Given the description of an element on the screen output the (x, y) to click on. 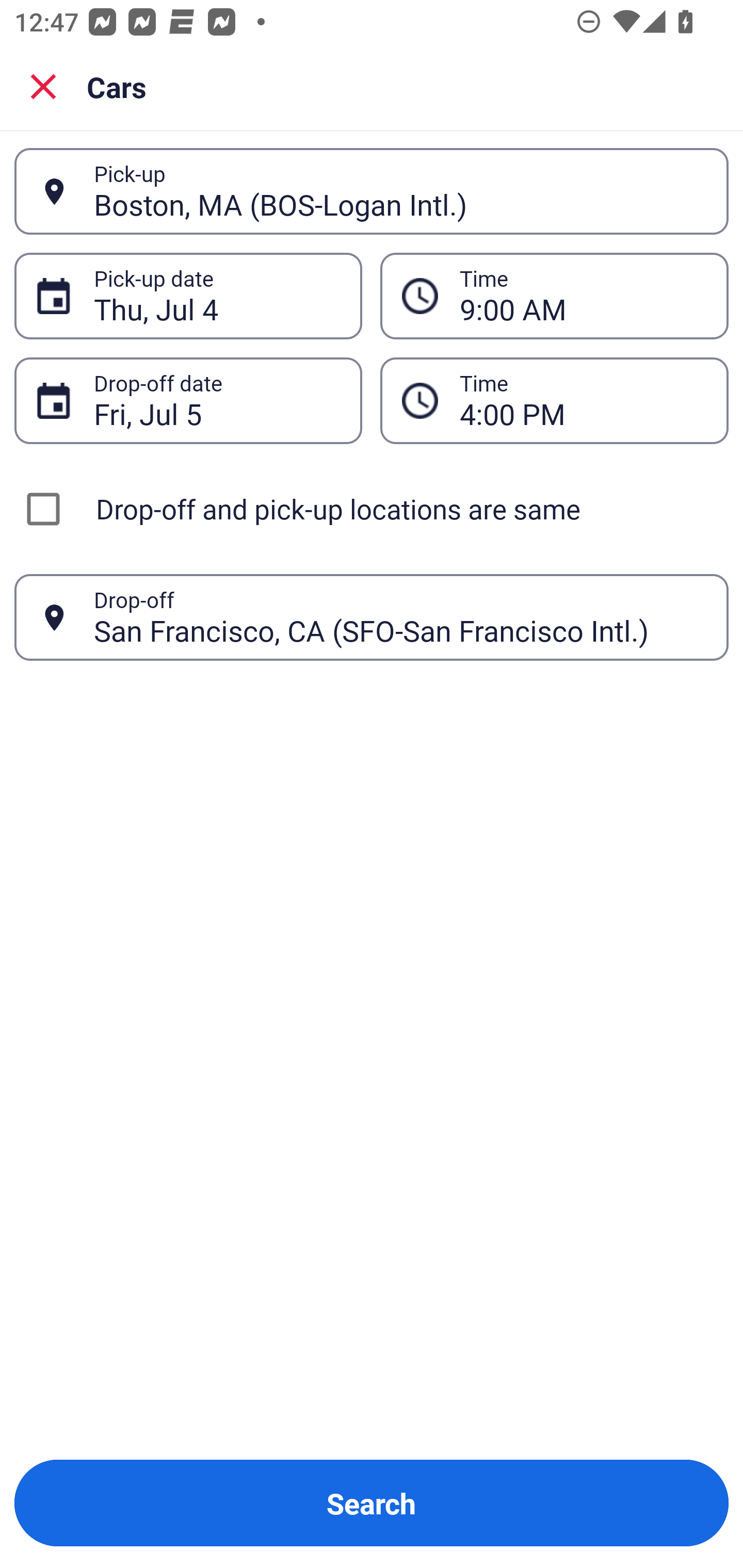
Close search screen (43, 86)
Boston, MA (BOS-Logan Intl.) Pick-up (371, 191)
Boston, MA (BOS-Logan Intl.) (399, 191)
Thu, Jul 4 Pick-up date (188, 295)
9:00 AM (554, 295)
Thu, Jul 4 (216, 296)
9:00 AM (582, 296)
Fri, Jul 5 Drop-off date (188, 400)
4:00 PM (554, 400)
Fri, Jul 5 (216, 400)
4:00 PM (582, 400)
Drop-off and pick-up locations are same (371, 508)
San Francisco, CA (SFO-San Francisco Intl.) (399, 616)
Search Button Search (371, 1502)
